Given the description of an element on the screen output the (x, y) to click on. 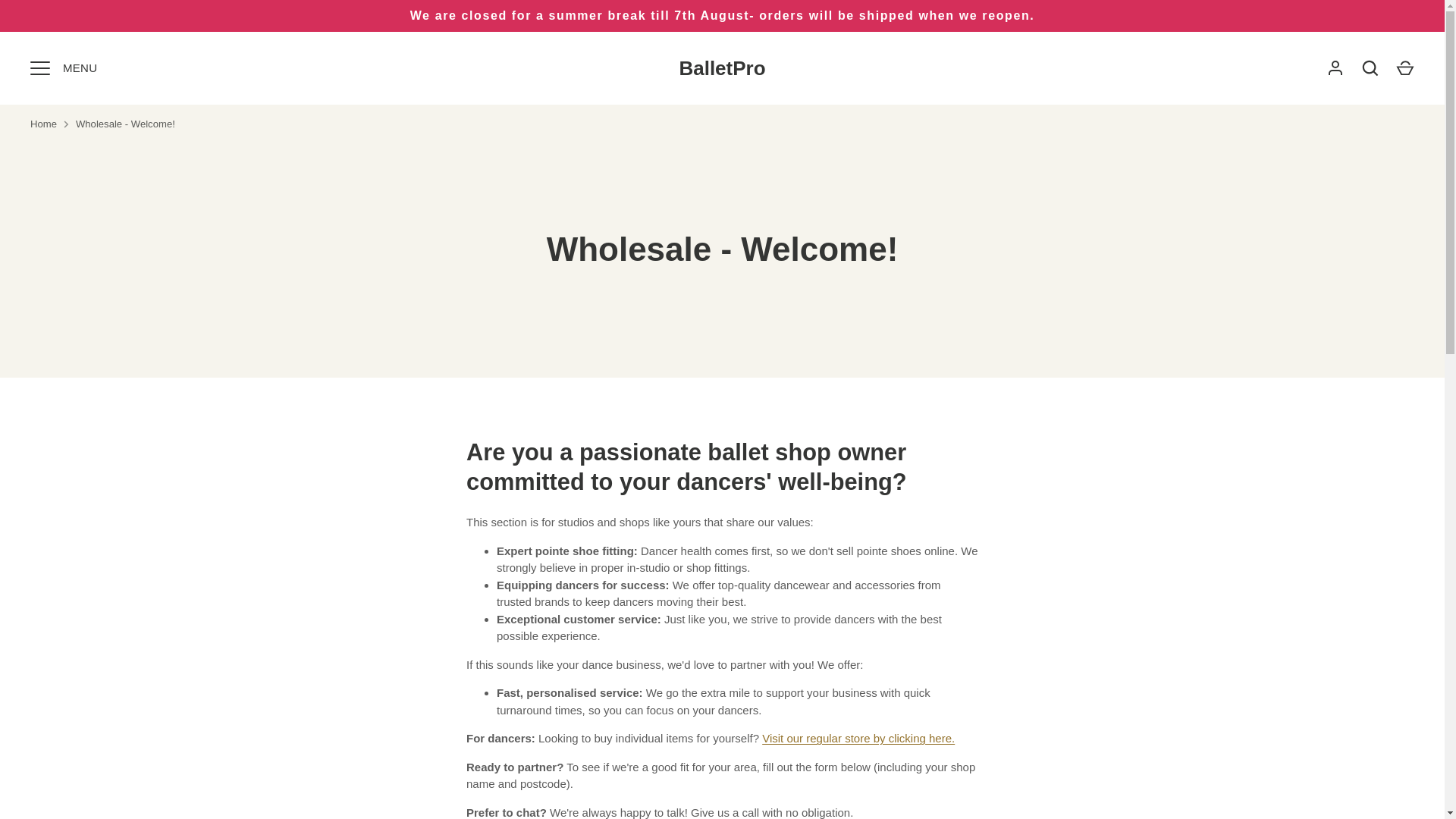
MENU (39, 68)
